Given the description of an element on the screen output the (x, y) to click on. 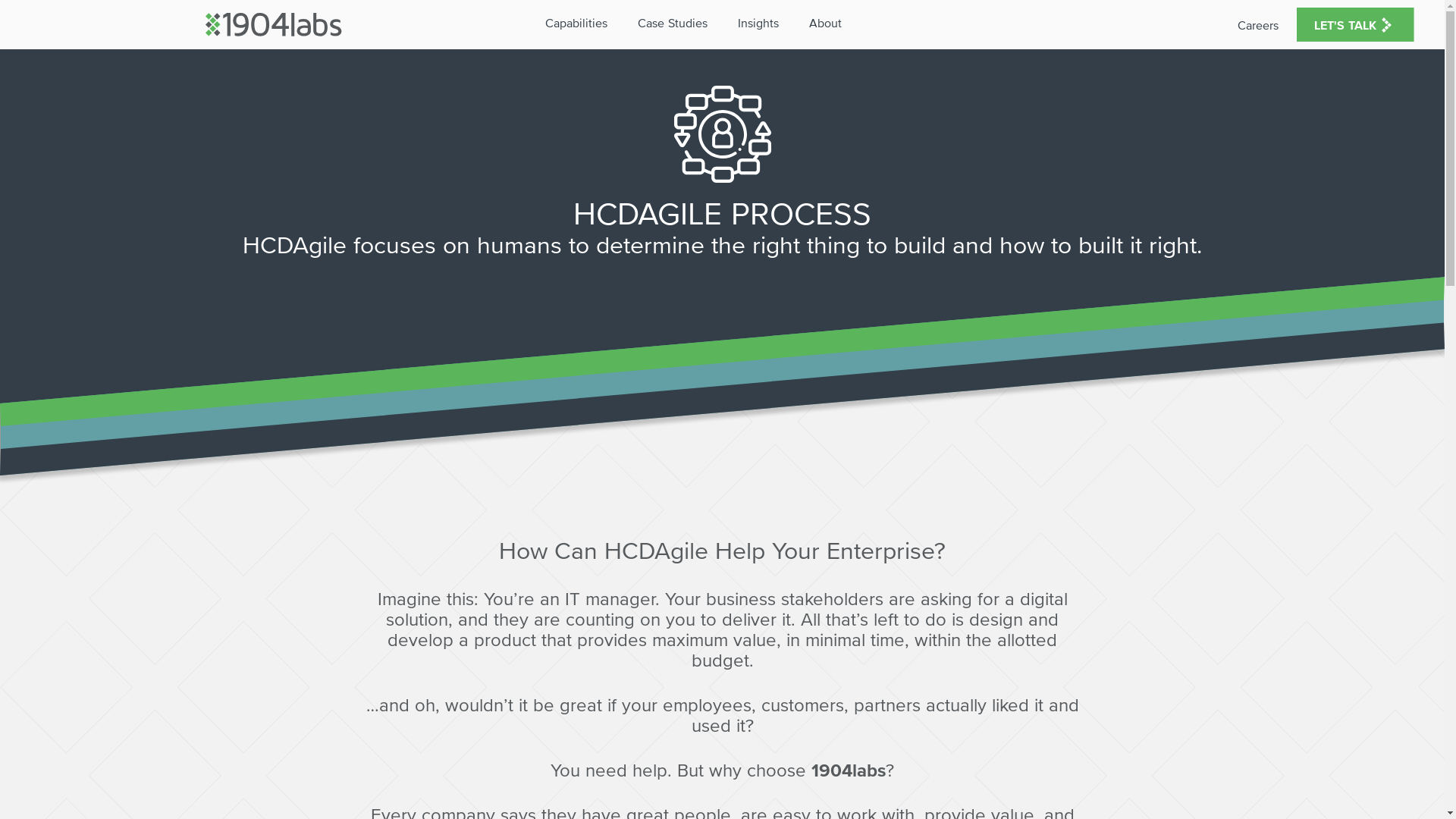
LET'S TALK Element type: text (1355, 24)
Insights Element type: text (762, 22)
Careers Element type: text (1257, 24)
Case Studies Element type: text (676, 22)
Capabilities Element type: text (580, 22)
About Element type: text (829, 22)
